Given the description of an element on the screen output the (x, y) to click on. 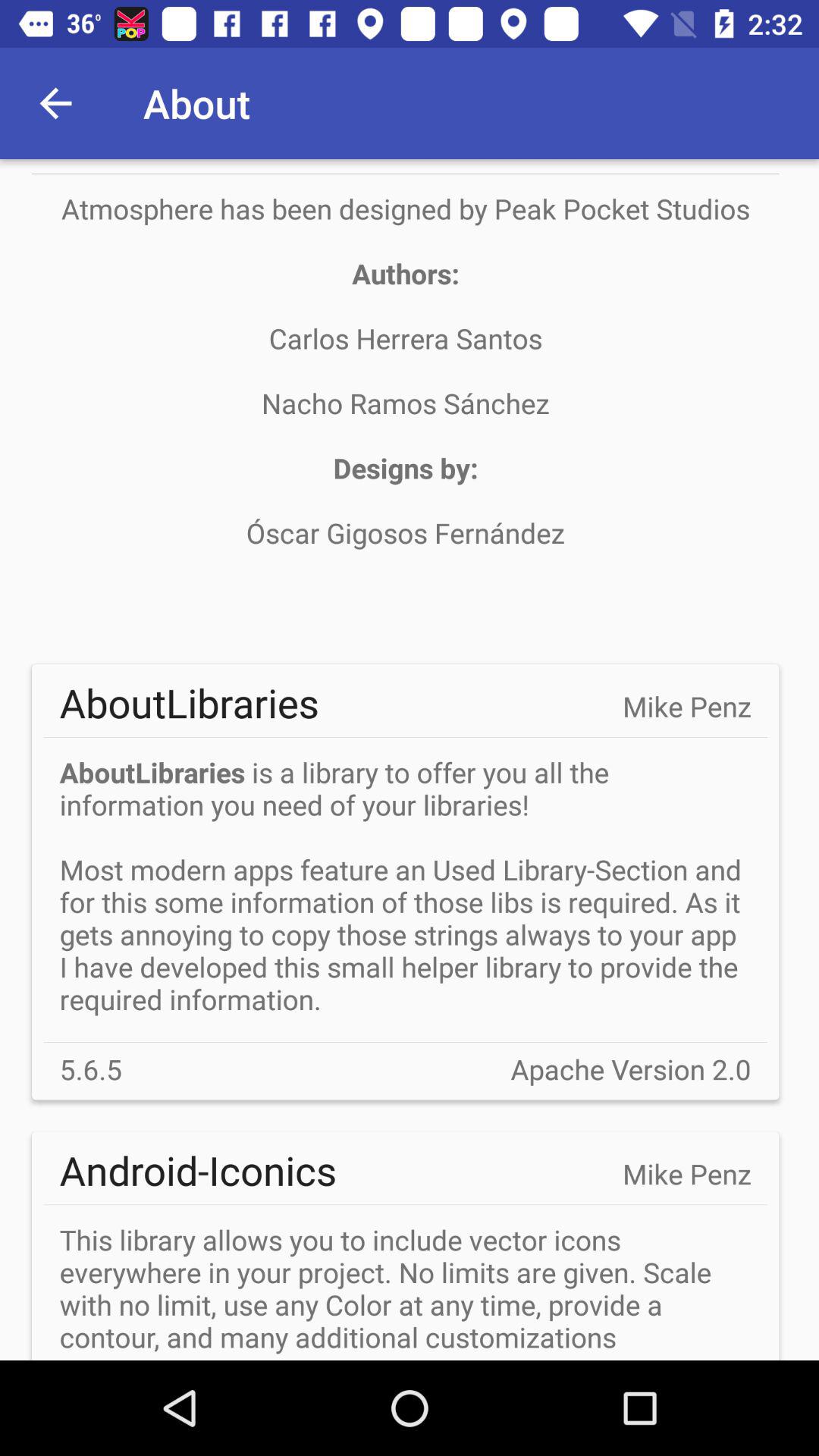
tap the item above aboutlibraries icon (405, 403)
